Given the description of an element on the screen output the (x, y) to click on. 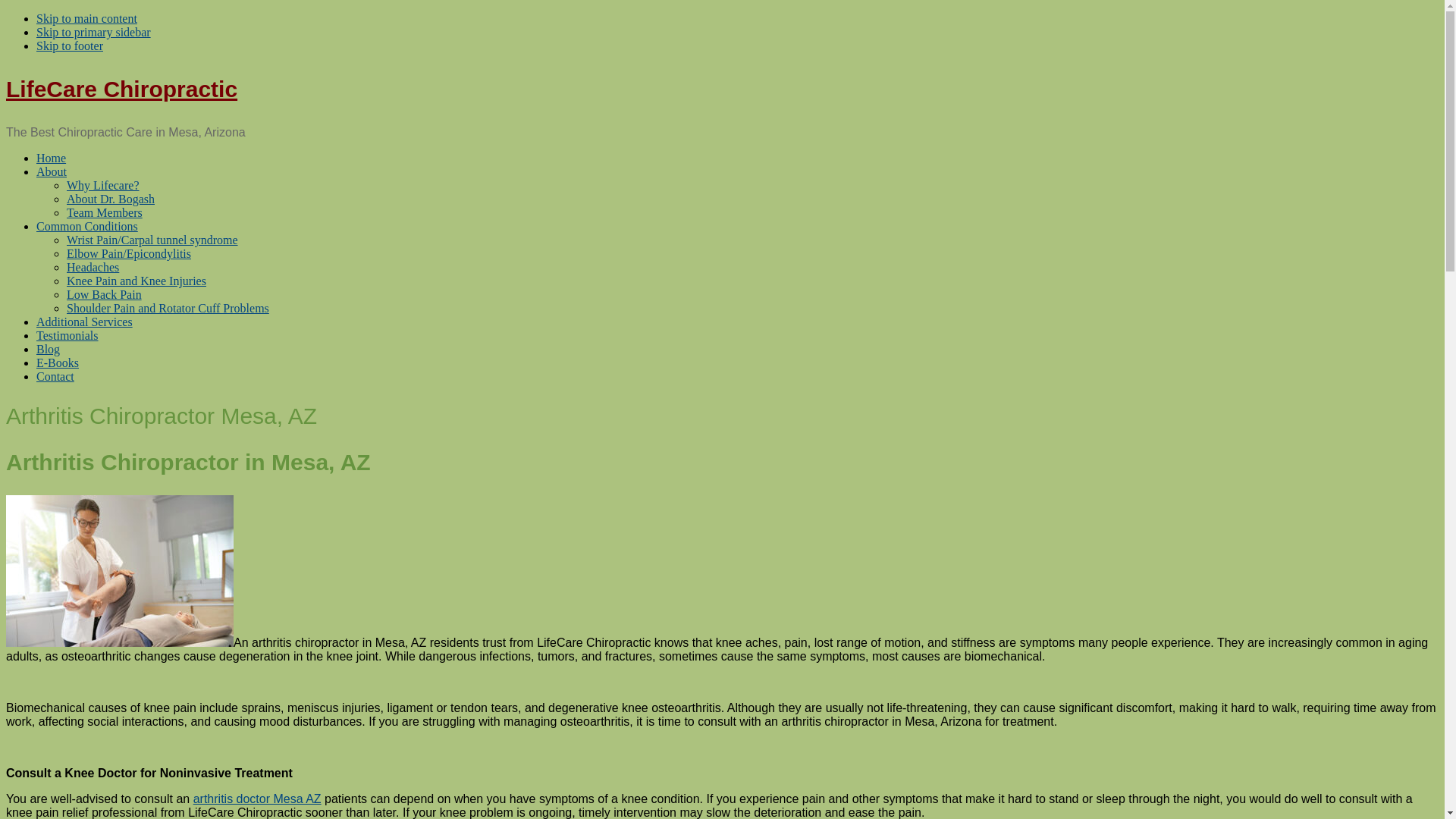
Lifecare Chiropractic Home (50, 157)
About (51, 171)
Skip to main content (86, 18)
Skip to primary sidebar (93, 31)
Contact (55, 376)
Knee Pain and Knee Injuries (136, 280)
Headaches (92, 267)
Skip to footer (69, 45)
Home (50, 157)
Additional Services (84, 321)
